Given the description of an element on the screen output the (x, y) to click on. 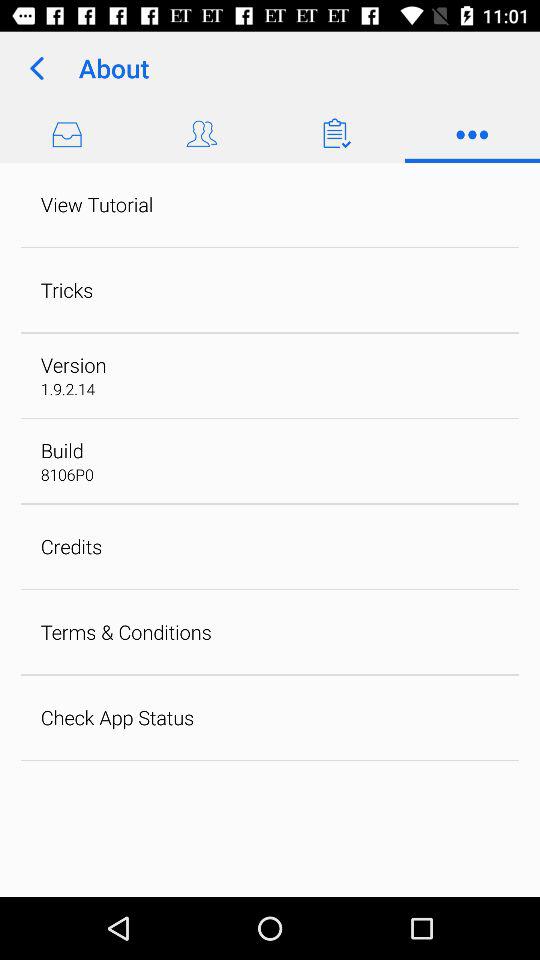
choose the item above the check app status icon (125, 631)
